Given the description of an element on the screen output the (x, y) to click on. 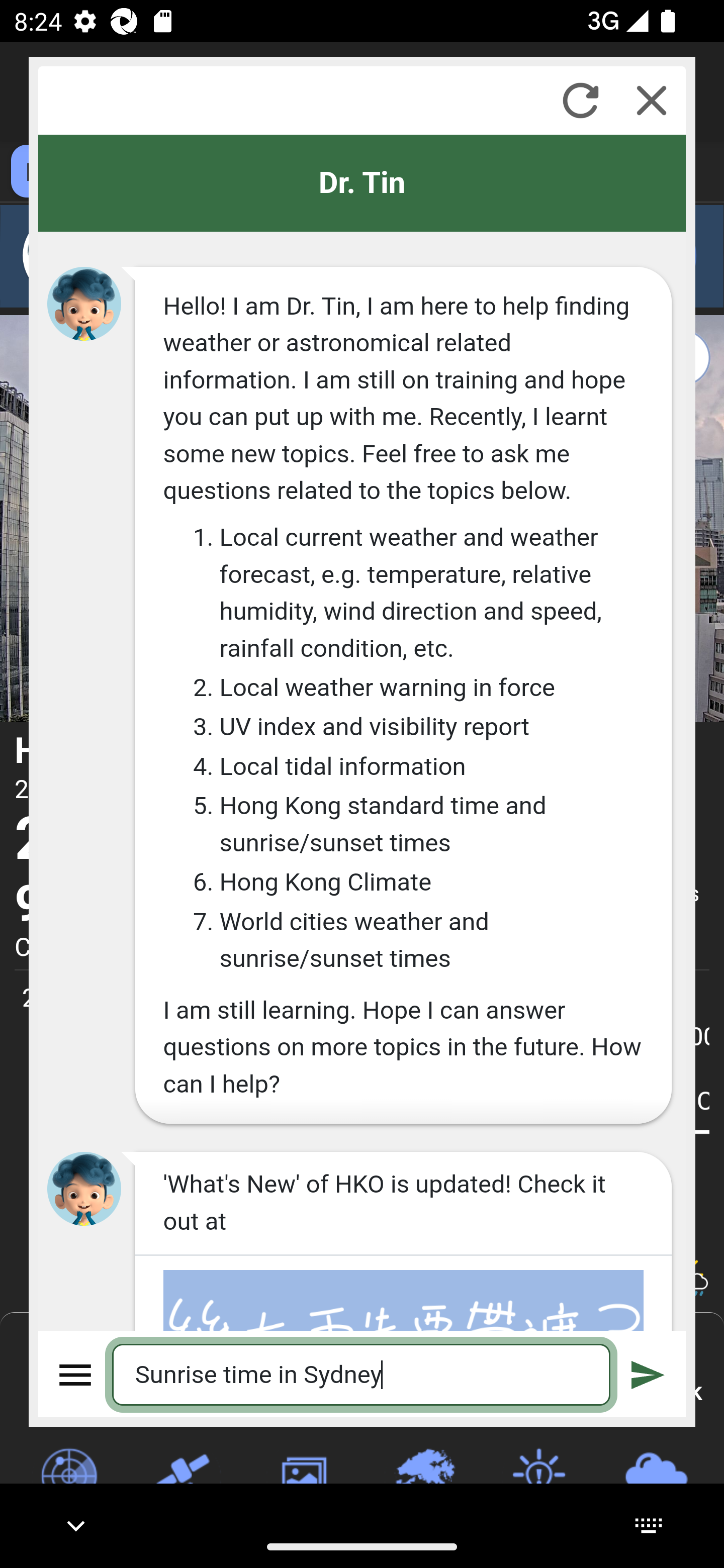
Refresh (580, 100)
Close (651, 100)
Menu (75, 1374)
Submit (648, 1374)
Sunrise time in Sydney (361, 1374)
